Given the description of an element on the screen output the (x, y) to click on. 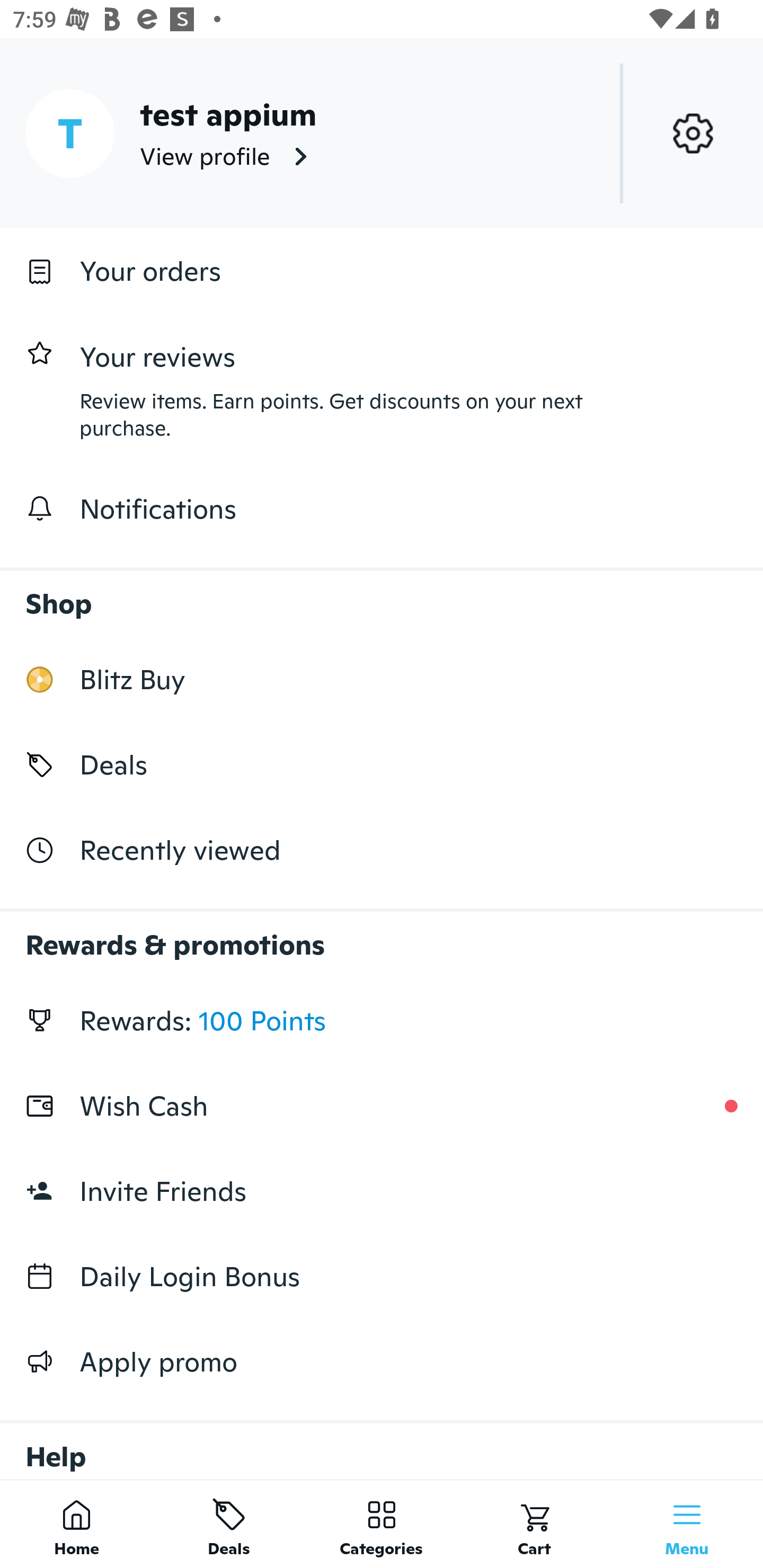
T test appium View profile (381, 132)
Your orders (381, 270)
Notifications (381, 508)
Shop (381, 593)
Blitz Buy (381, 679)
Deals (381, 764)
Recently viewed (381, 850)
Rewards & promotions (381, 935)
Rewards: 100 Points (381, 1020)
Wish Cash (381, 1106)
Invite Friends (381, 1190)
Daily Login Bonus (381, 1277)
Apply promo (381, 1361)
Help (381, 1441)
Home (76, 1523)
Deals (228, 1523)
Categories (381, 1523)
Cart (533, 1523)
Menu (686, 1523)
